Given the description of an element on the screen output the (x, y) to click on. 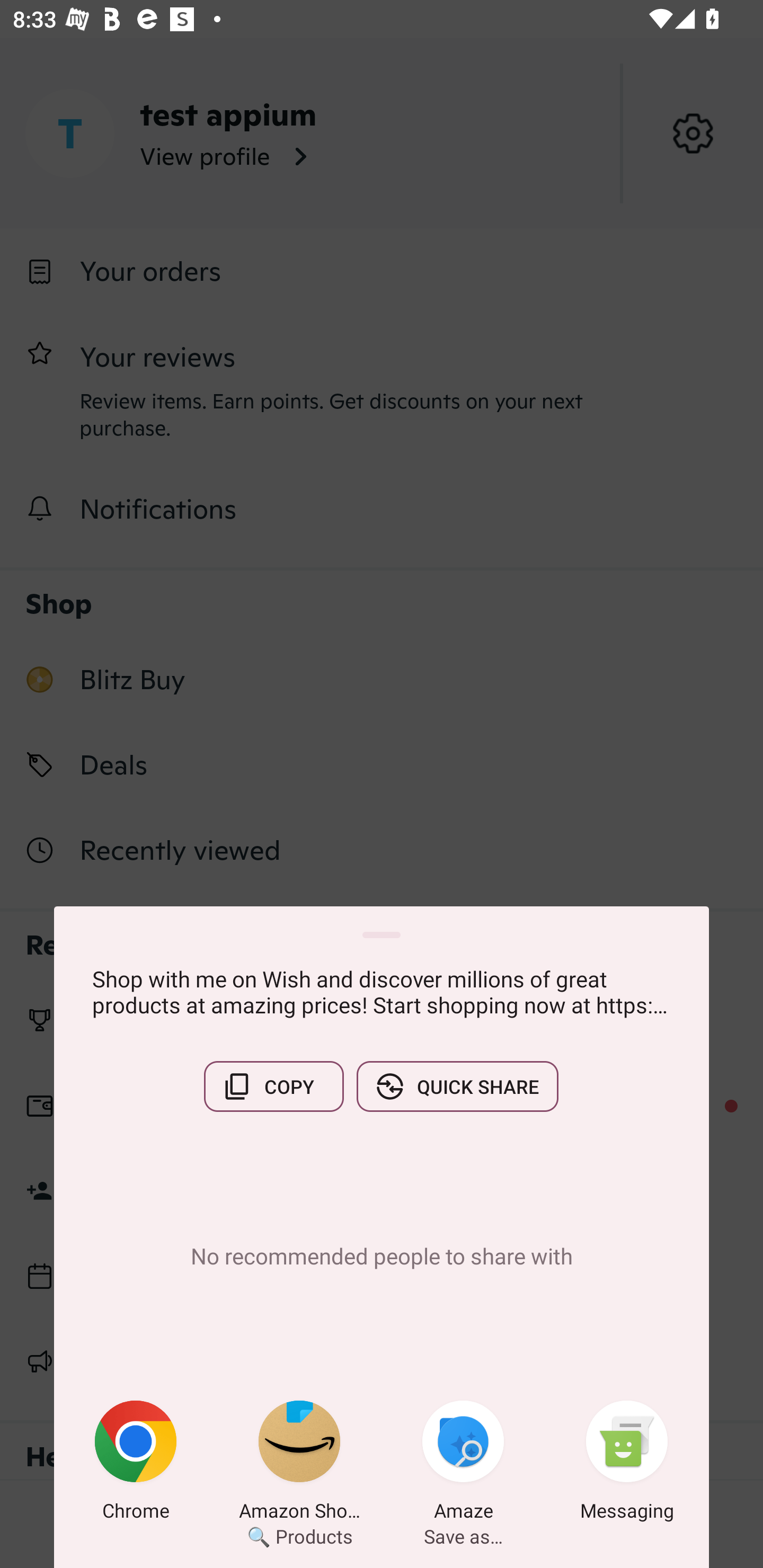
COPY (273, 1086)
QUICK SHARE (457, 1086)
Chrome (135, 1463)
Amazon Shopping 🔍 Products (299, 1463)
Amaze Save as… (463, 1463)
Messaging (626, 1463)
